Given the description of an element on the screen output the (x, y) to click on. 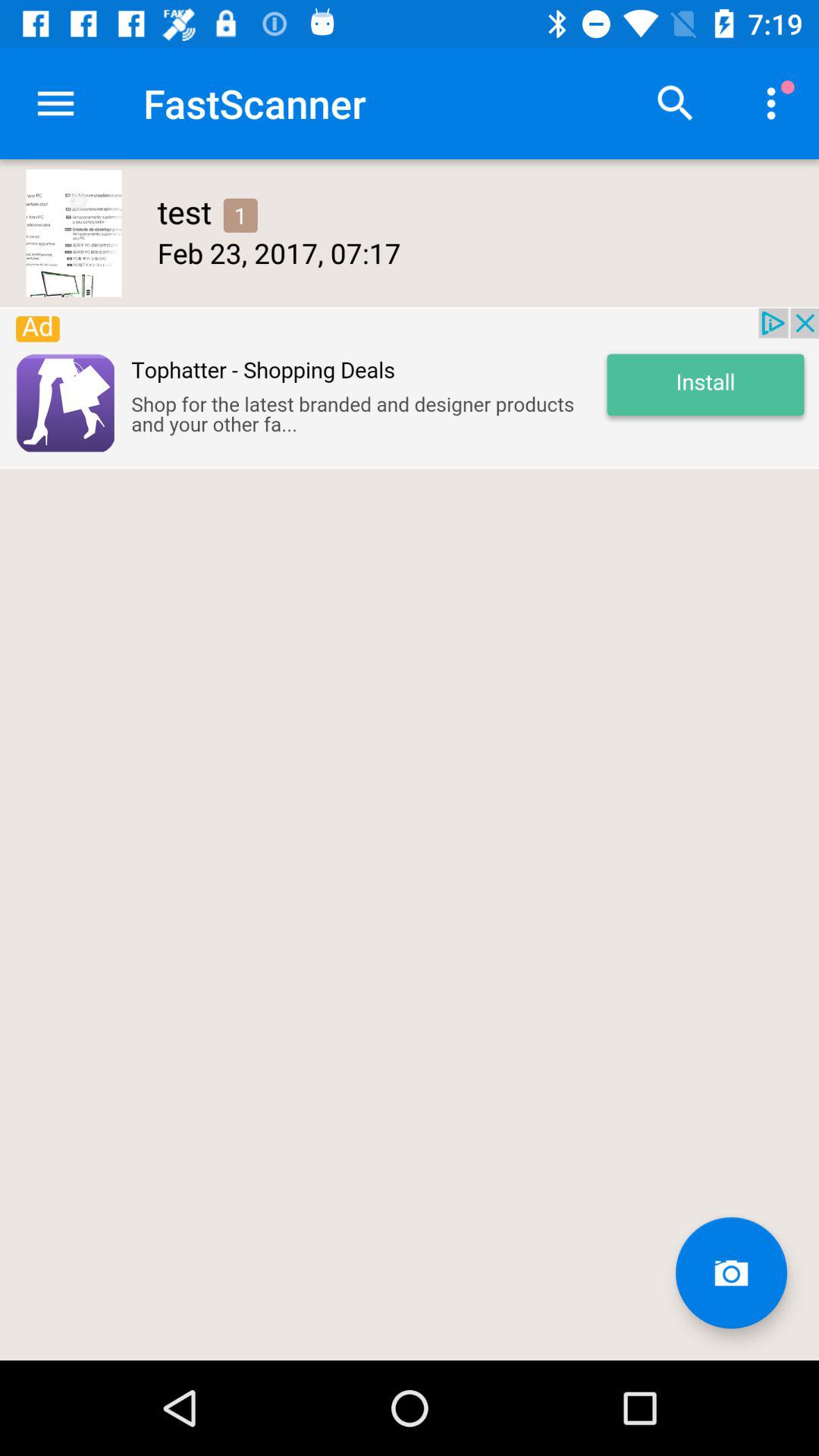
view menu (55, 103)
